Given the description of an element on the screen output the (x, y) to click on. 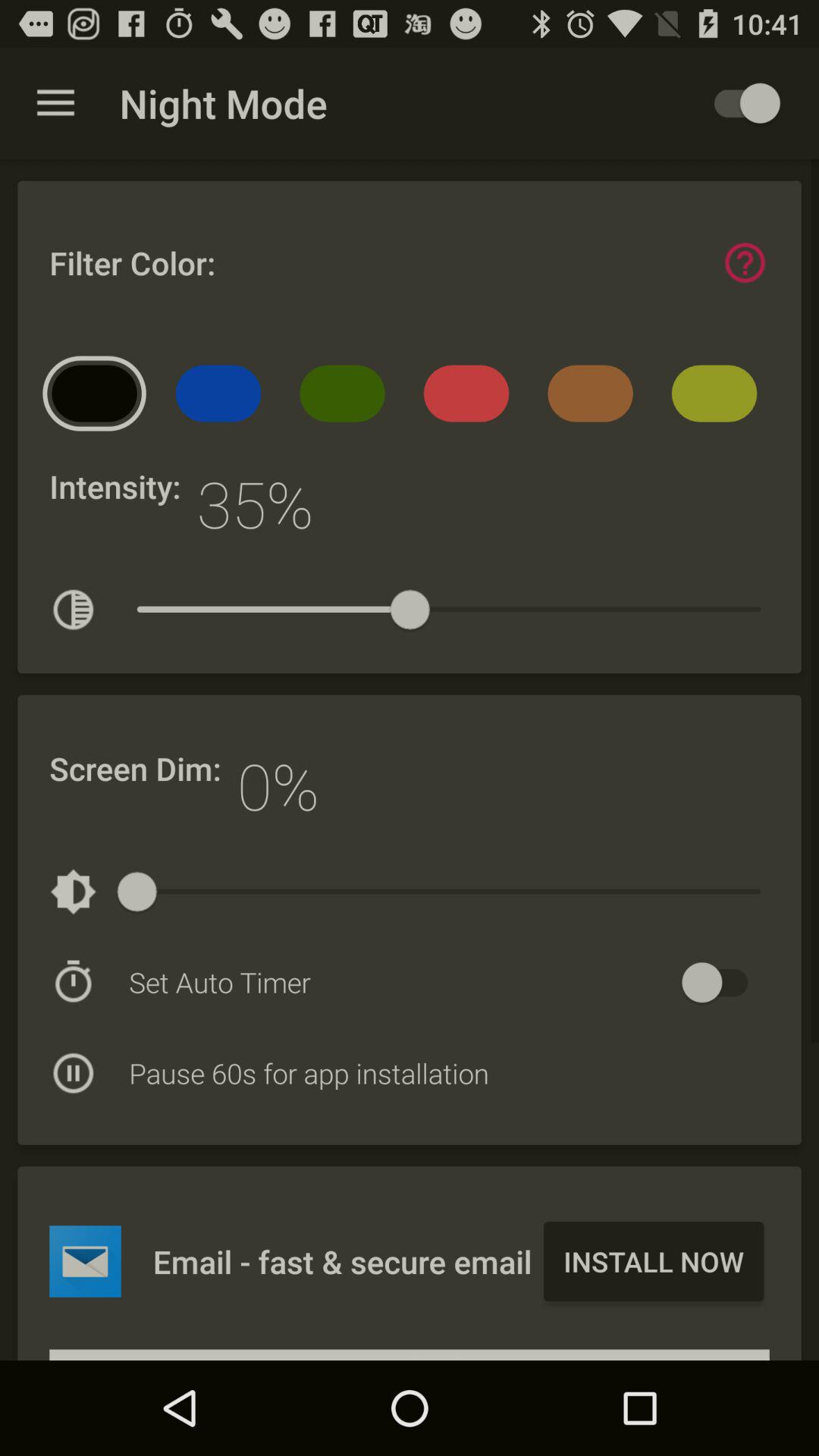
tap to get help (744, 262)
